Given the description of an element on the screen output the (x, y) to click on. 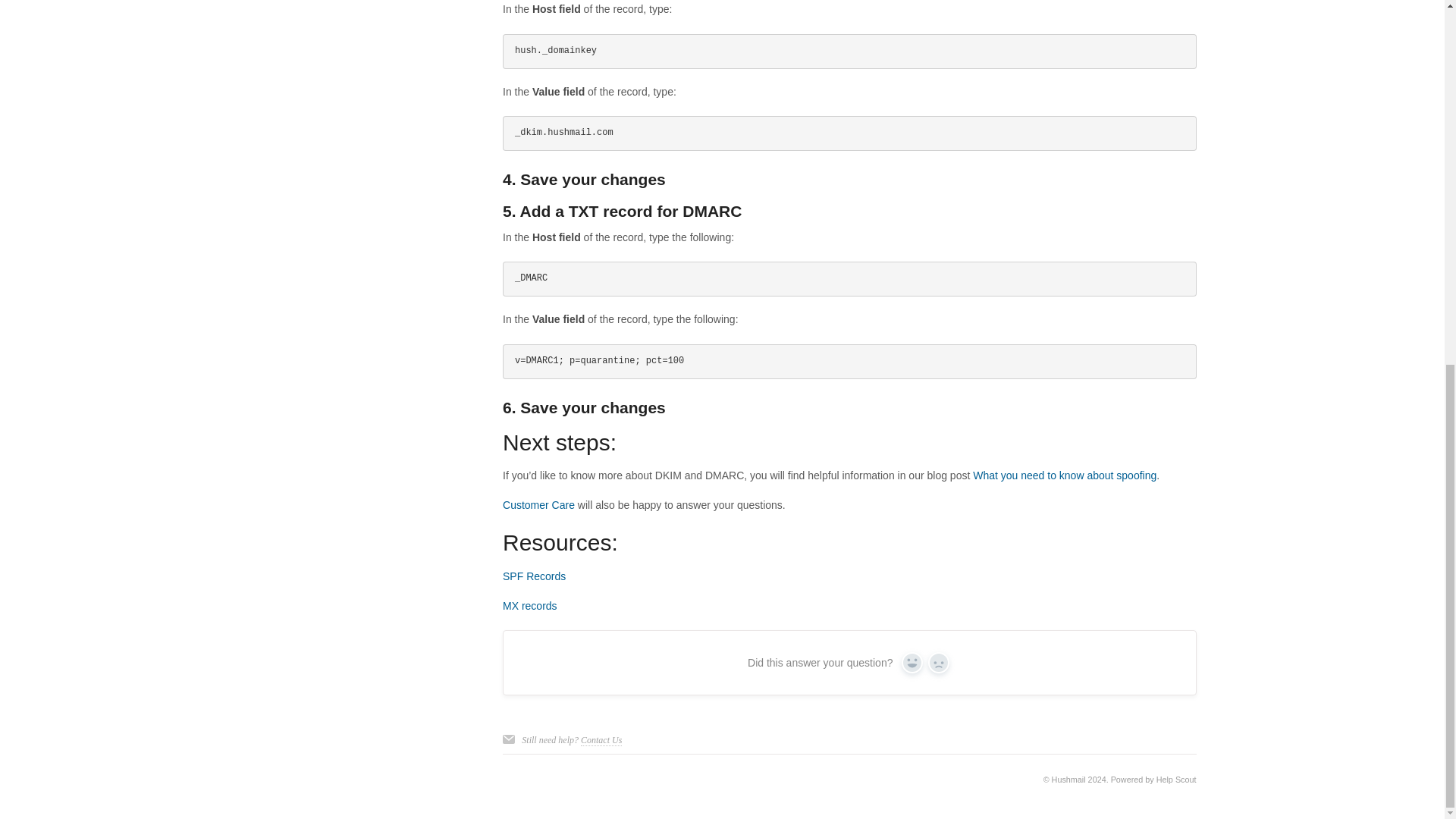
No (938, 662)
What you need to know about spoofing (1064, 475)
Help Scout (1176, 778)
SPF Records (534, 576)
Hushmail (1068, 778)
MX records (529, 605)
Customer Care (538, 504)
Contact Us (600, 740)
Yes (912, 662)
